Given the description of an element on the screen output the (x, y) to click on. 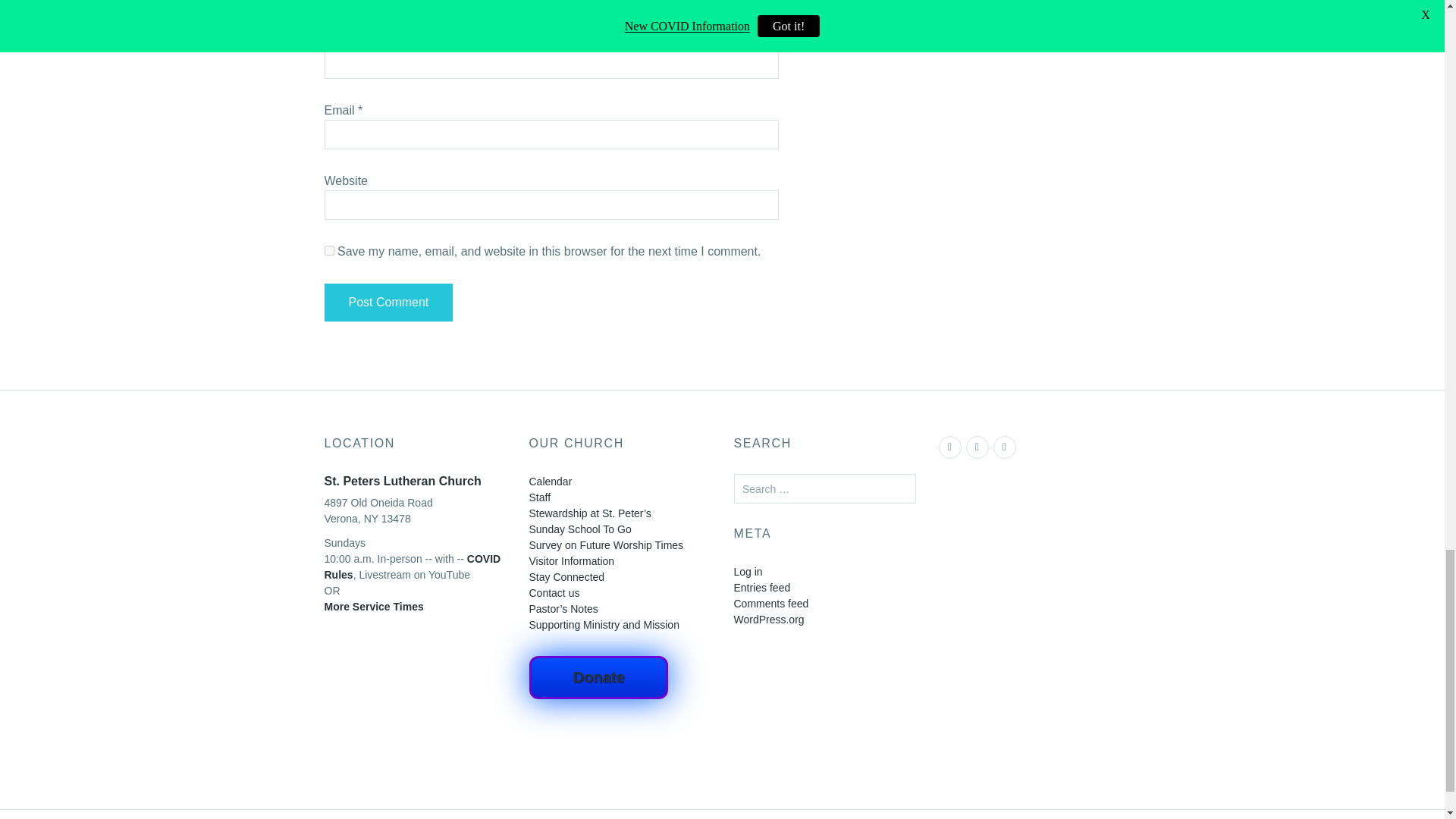
yes (329, 250)
How do I get there? (373, 614)
Corona Virus (412, 566)
Post Comment (388, 302)
